Given the description of an element on the screen output the (x, y) to click on. 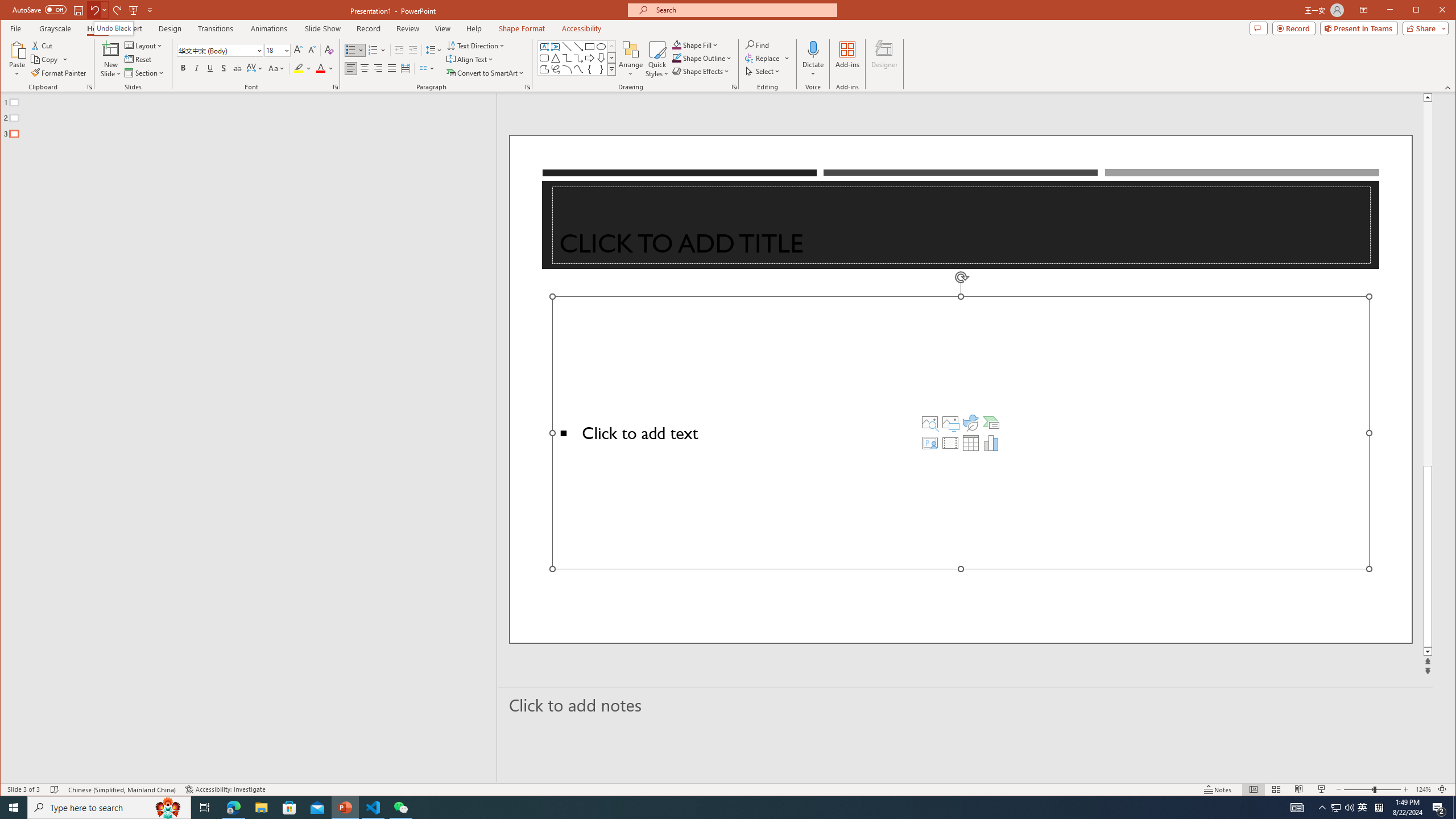
Text Box (544, 46)
Columns (426, 68)
Show desktop (1454, 807)
Accessibility (581, 28)
User Promoted Notification Area (1342, 807)
Start (13, 807)
Replace... (768, 57)
Notes  (1217, 789)
Accessibility Checker Accessibility: Investigate (225, 789)
Grayscale (55, 28)
Curve (577, 69)
